Given the description of an element on the screen output the (x, y) to click on. 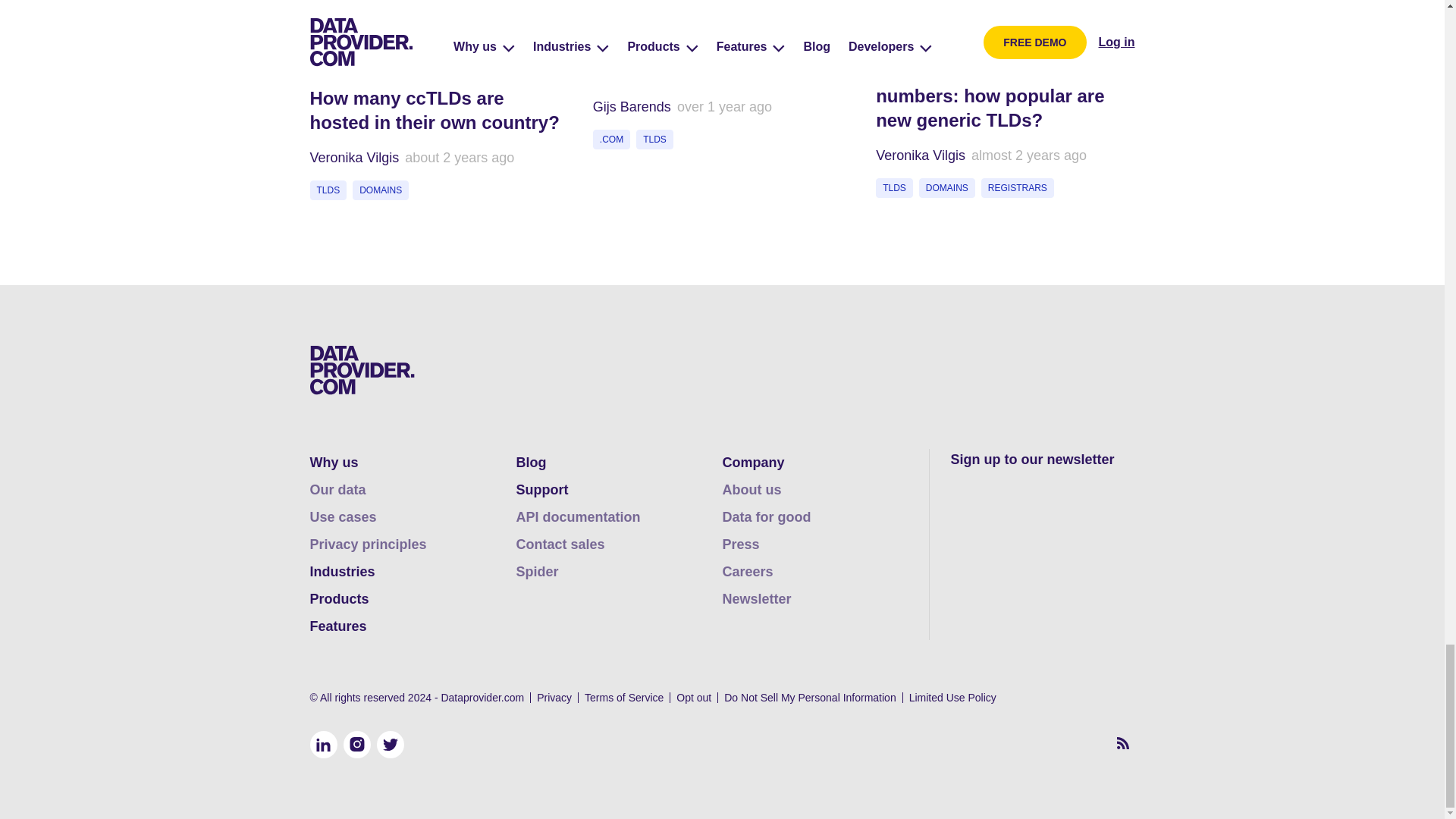
domains (380, 189)
Registrars (1017, 188)
Our data (336, 489)
Use cases (341, 516)
TLDs (654, 139)
Home (360, 369)
domains (946, 188)
Privacy principles (367, 544)
.com (611, 139)
TLDs (327, 189)
TLDs (894, 188)
